Given the description of an element on the screen output the (x, y) to click on. 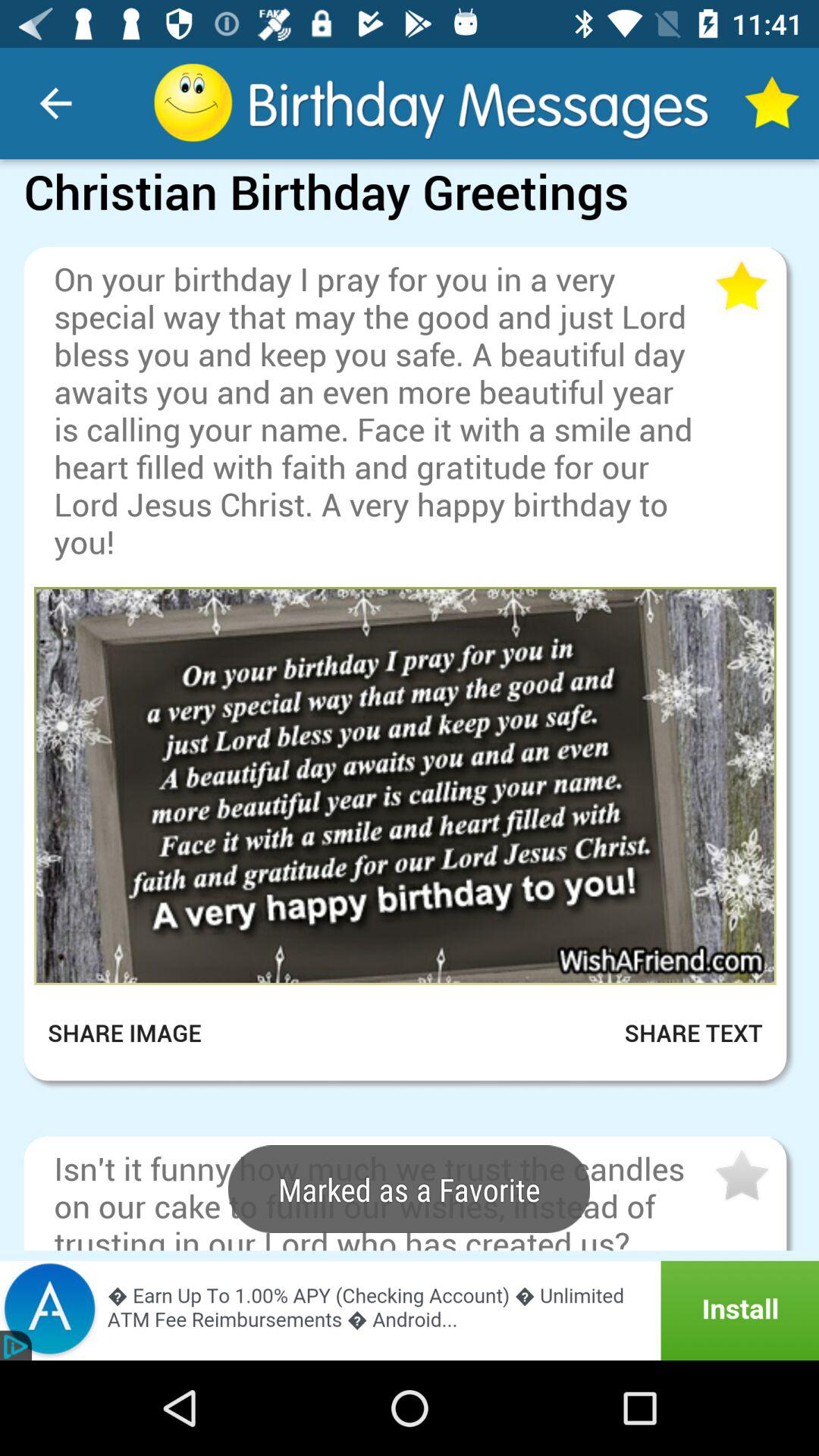
open the isn t it item (382, 1198)
